Given the description of an element on the screen output the (x, y) to click on. 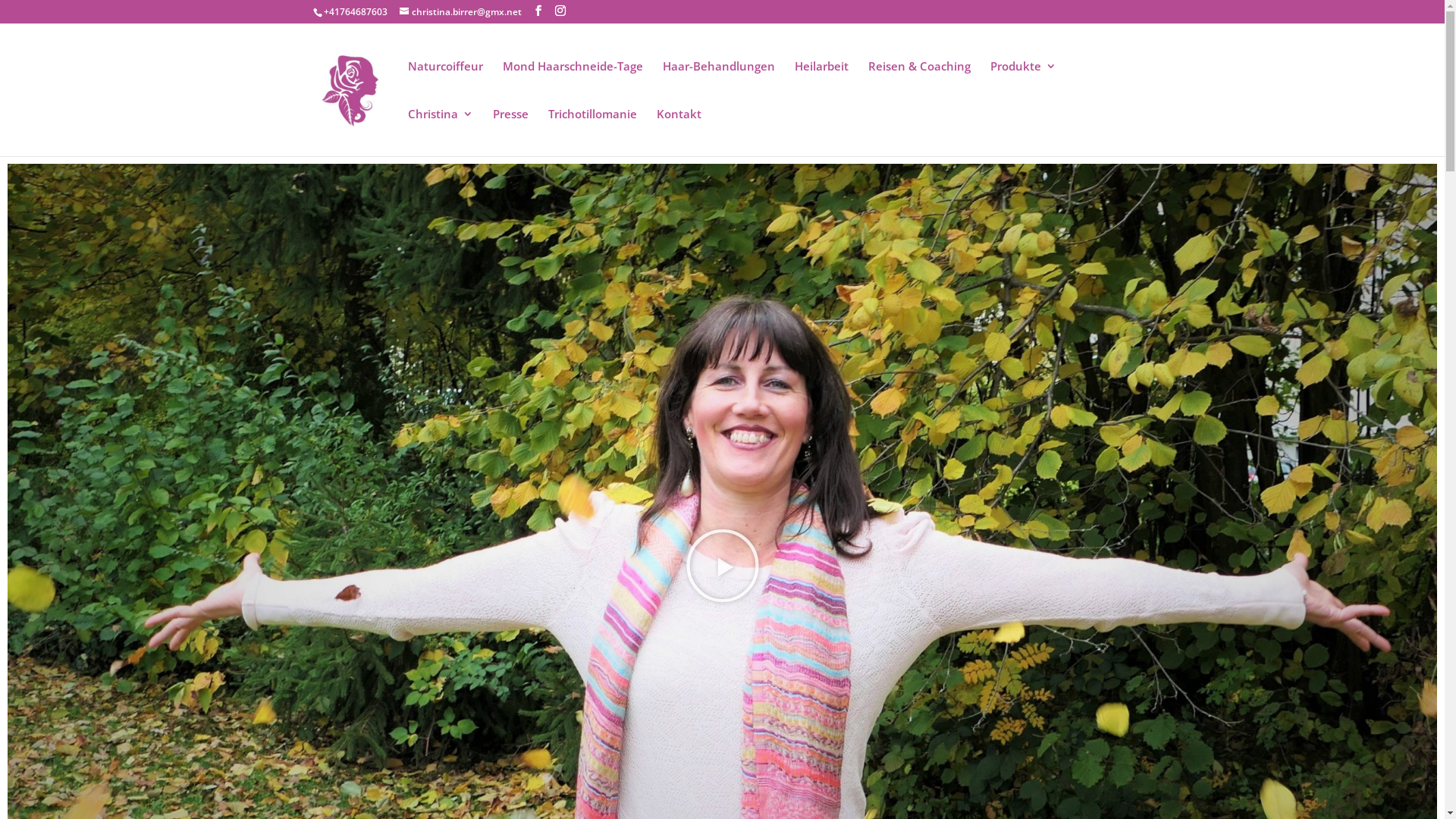
Produkte Element type: text (1023, 84)
Haar-Behandlungen Element type: text (718, 84)
Trichotillomanie Element type: text (591, 132)
Naturcoiffeur Element type: text (445, 84)
Mond Haarschneide-Tage Element type: text (572, 84)
christina.birrer@gmx.net Element type: text (459, 11)
Presse Element type: text (510, 132)
Kontakt Element type: text (678, 132)
Heilarbeit Element type: text (821, 84)
Christina Element type: text (440, 132)
Reisen & Coaching Element type: text (918, 84)
+41764687603 Element type: text (354, 11)
